Given the description of an element on the screen output the (x, y) to click on. 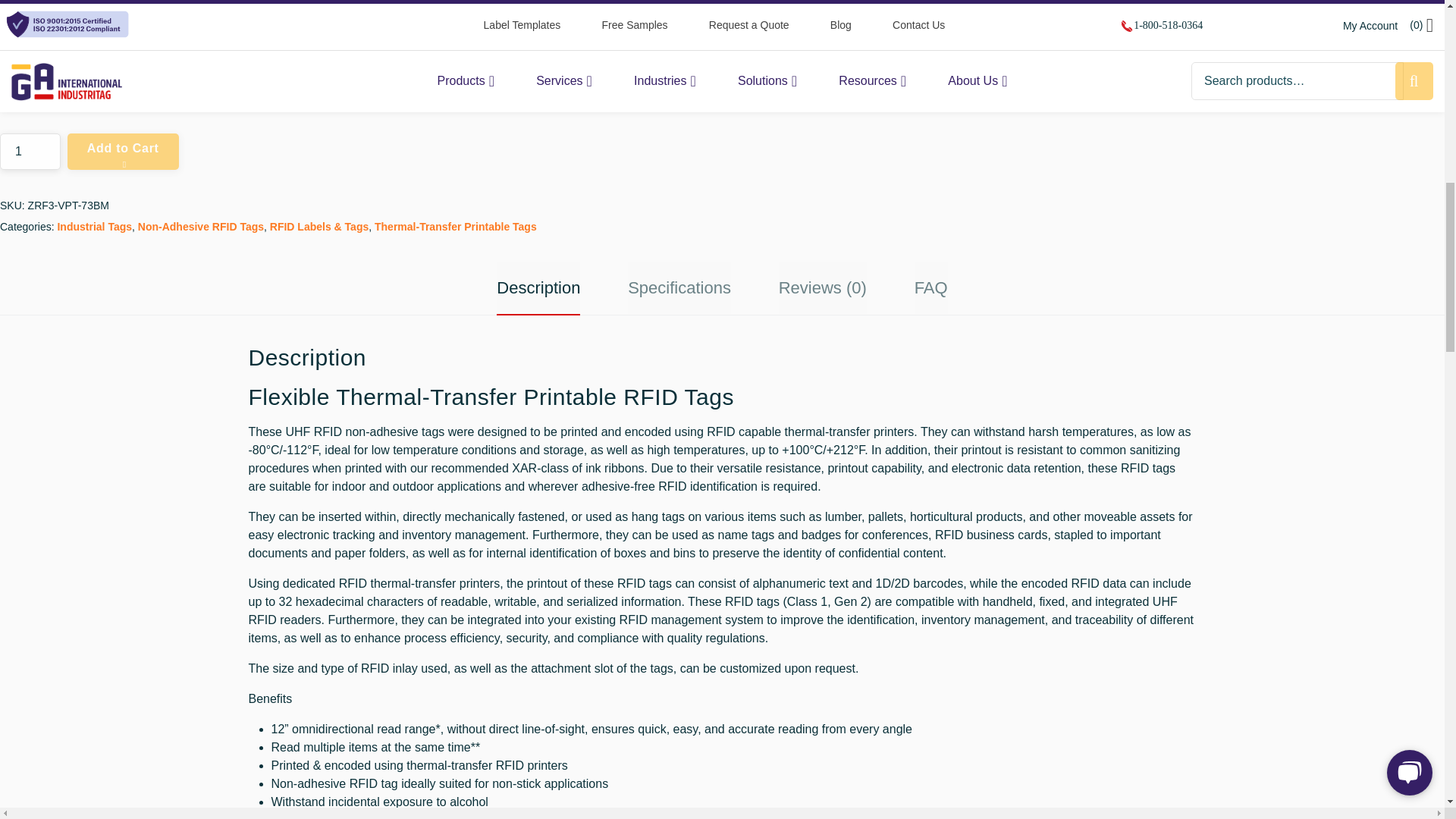
1 (30, 151)
Qty (30, 151)
